Given the description of an element on the screen output the (x, y) to click on. 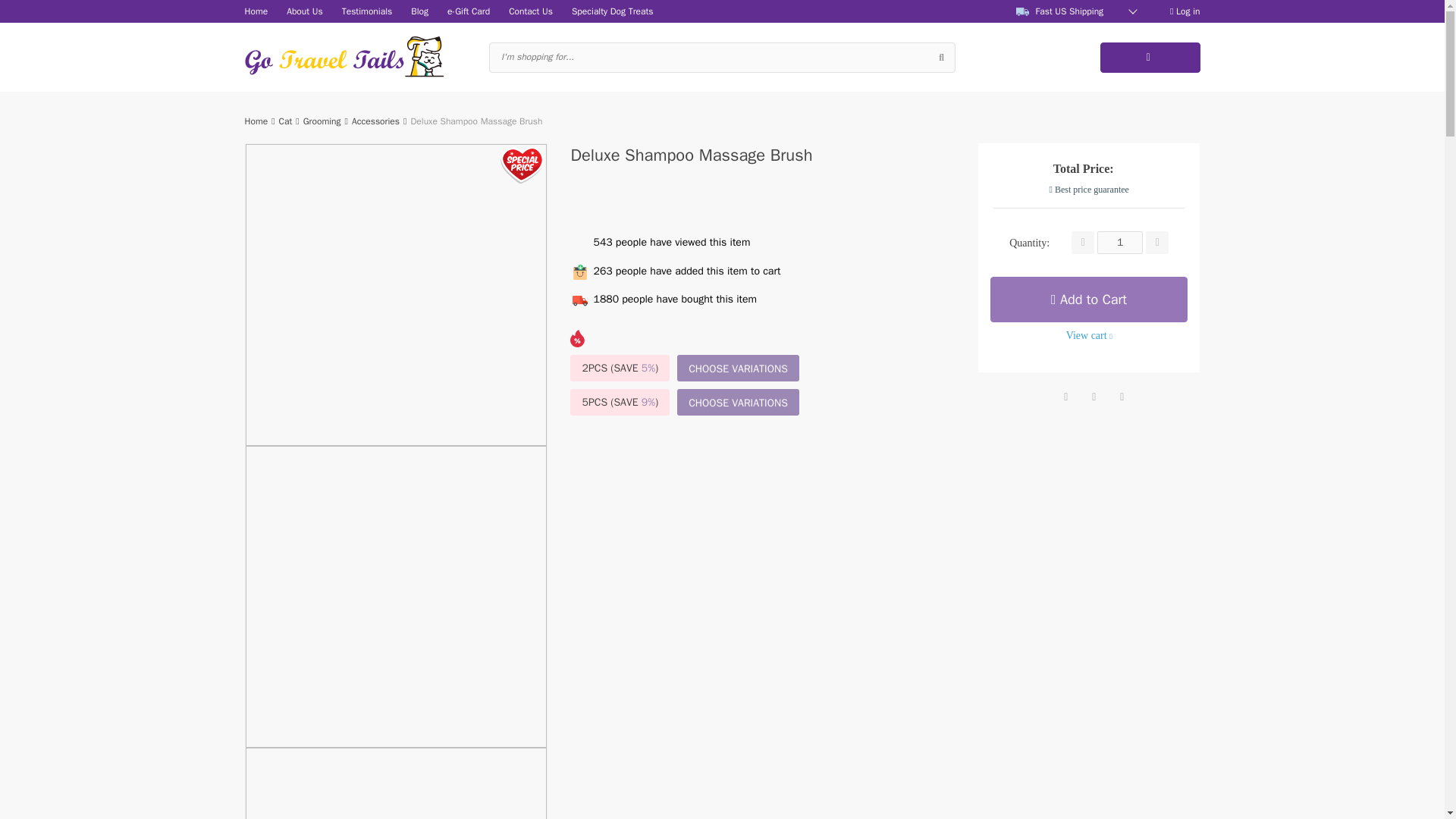
1 (1119, 241)
19673-d73ddd.webp (396, 783)
19673-8cffec.webp (396, 596)
